Given the description of an element on the screen output the (x, y) to click on. 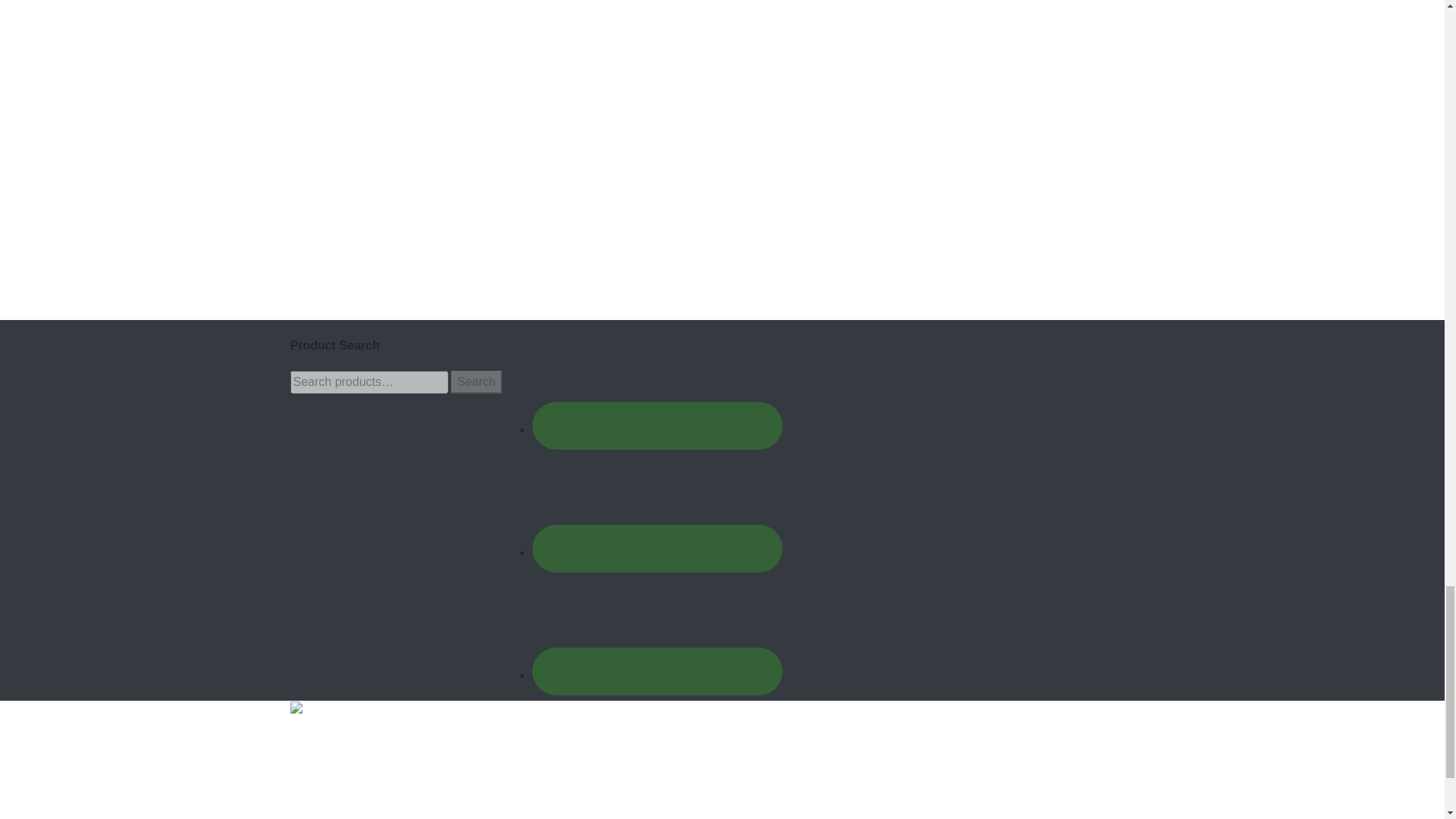
Twitter (657, 499)
YouTube (657, 622)
Facebook (657, 377)
